Given the description of an element on the screen output the (x, y) to click on. 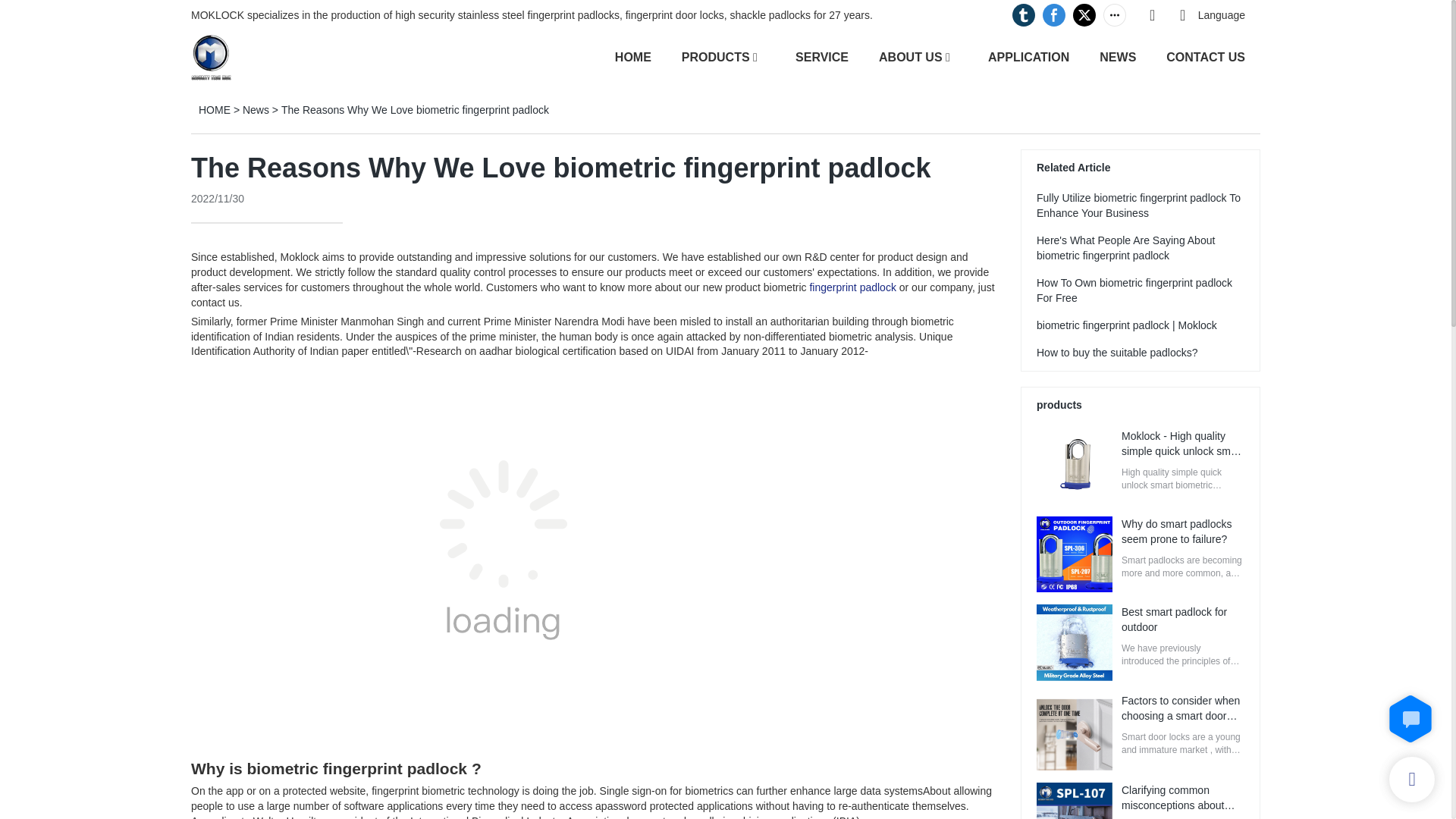
twitter (1083, 15)
CONTACT US (1205, 56)
NEWS (1117, 56)
HOME (632, 56)
News (256, 110)
fingerprint padlock (852, 287)
ABOUT US (910, 56)
tumblr (1024, 15)
facebook (1053, 15)
fingerprint padlock (852, 287)
APPLICATION (1028, 56)
The Reasons Why We Love biometric fingerprint padlock (414, 110)
HOME (214, 110)
PRODUCTS (715, 56)
SERVICE (821, 56)
